Given the description of an element on the screen output the (x, y) to click on. 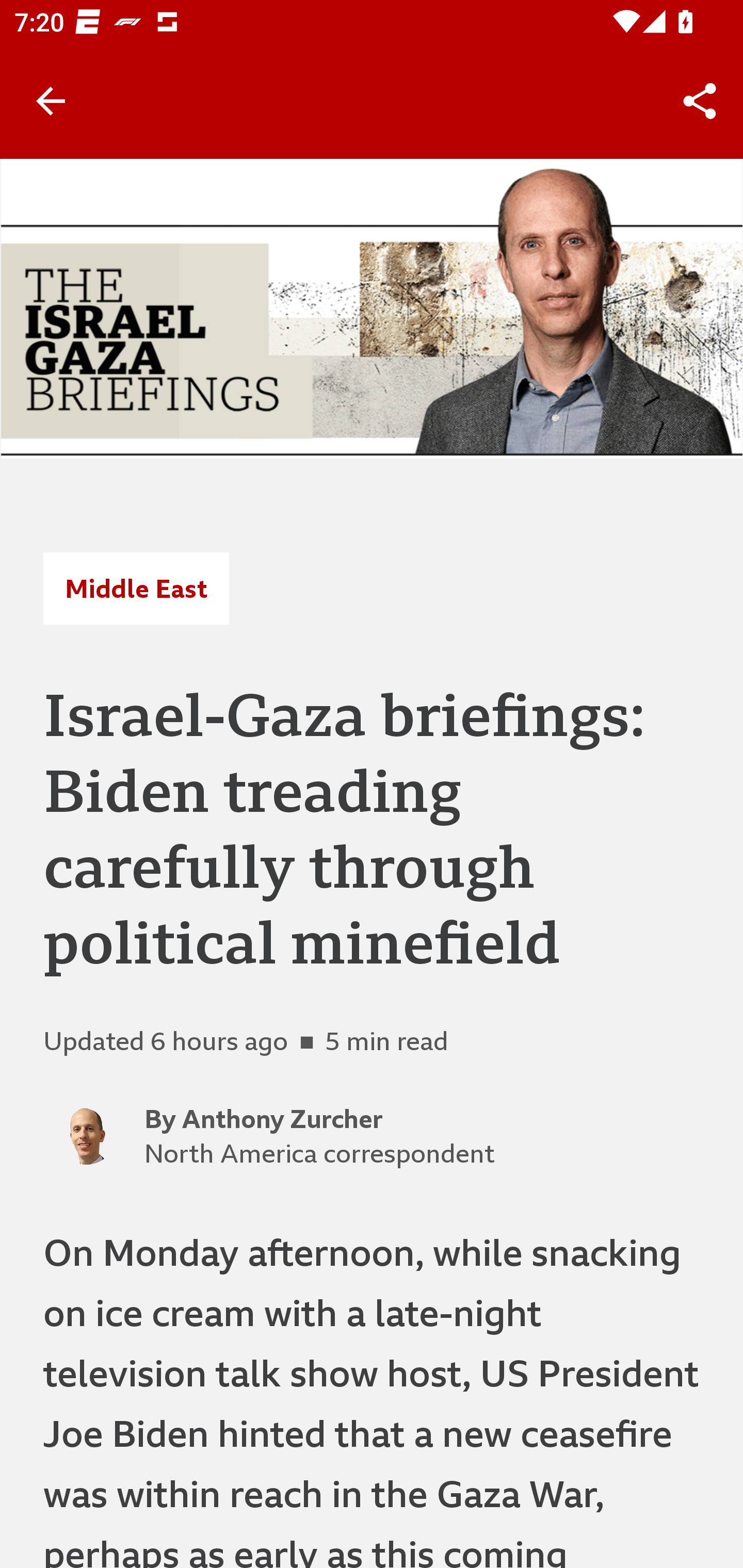
Back (50, 101)
Share (699, 101)
The Israel Gaza Briefings: Anthony Zurcher (371, 307)
Middle East (135, 588)
